Given the description of an element on the screen output the (x, y) to click on. 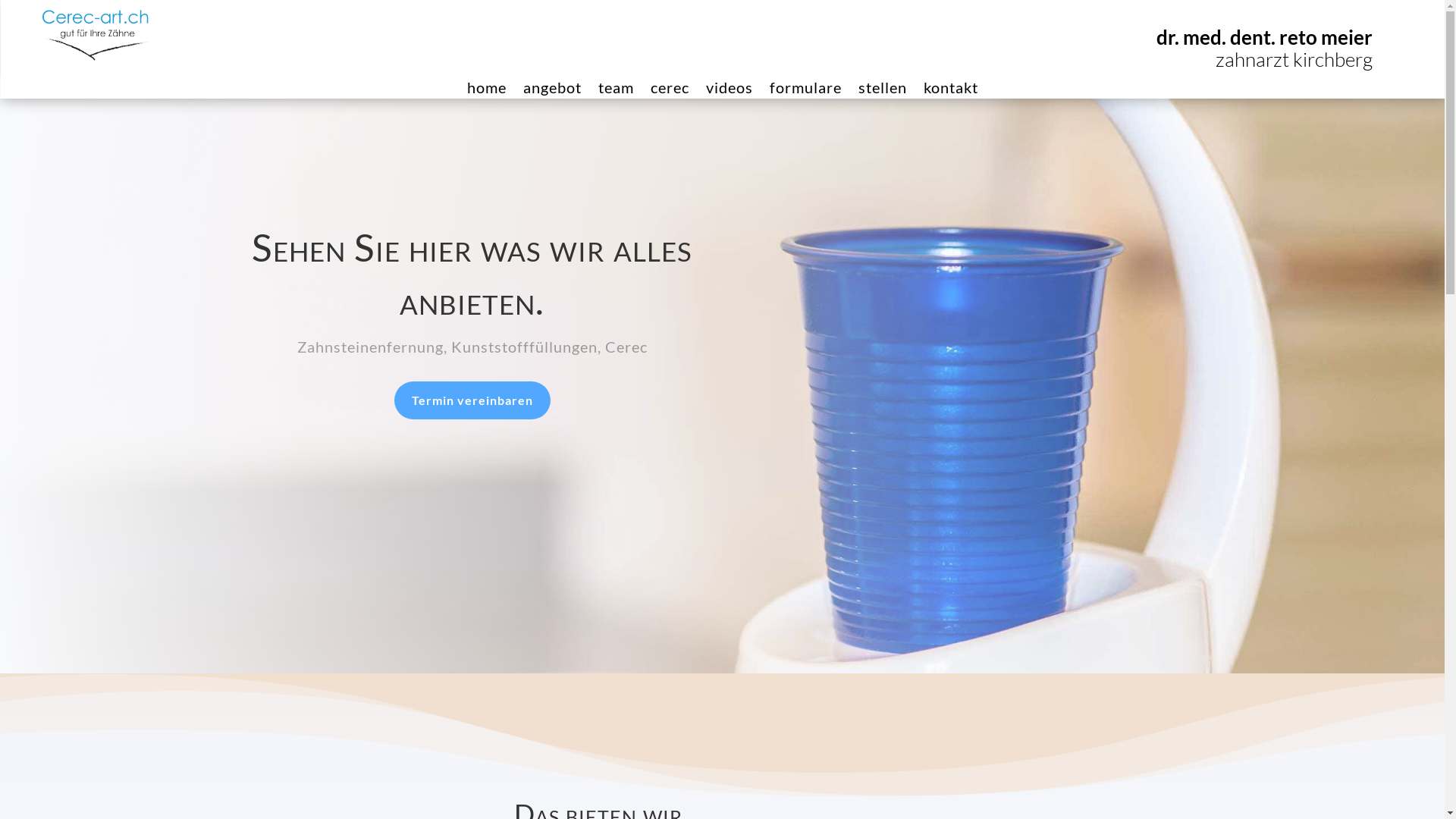
cerec Element type: text (669, 89)
videos Element type: text (728, 89)
home Element type: text (486, 89)
angebot Element type: text (552, 89)
Cerec Element type: text (626, 346)
stellen Element type: text (882, 89)
cerec-art-transp_ohne-adresse-kl_red.auf-eine-ebene-fi Element type: hover (94, 34)
team Element type: text (615, 89)
kontakt Element type: text (950, 89)
formulare Element type: text (804, 89)
Termin vereinbaren Element type: text (472, 400)
